Given the description of an element on the screen output the (x, y) to click on. 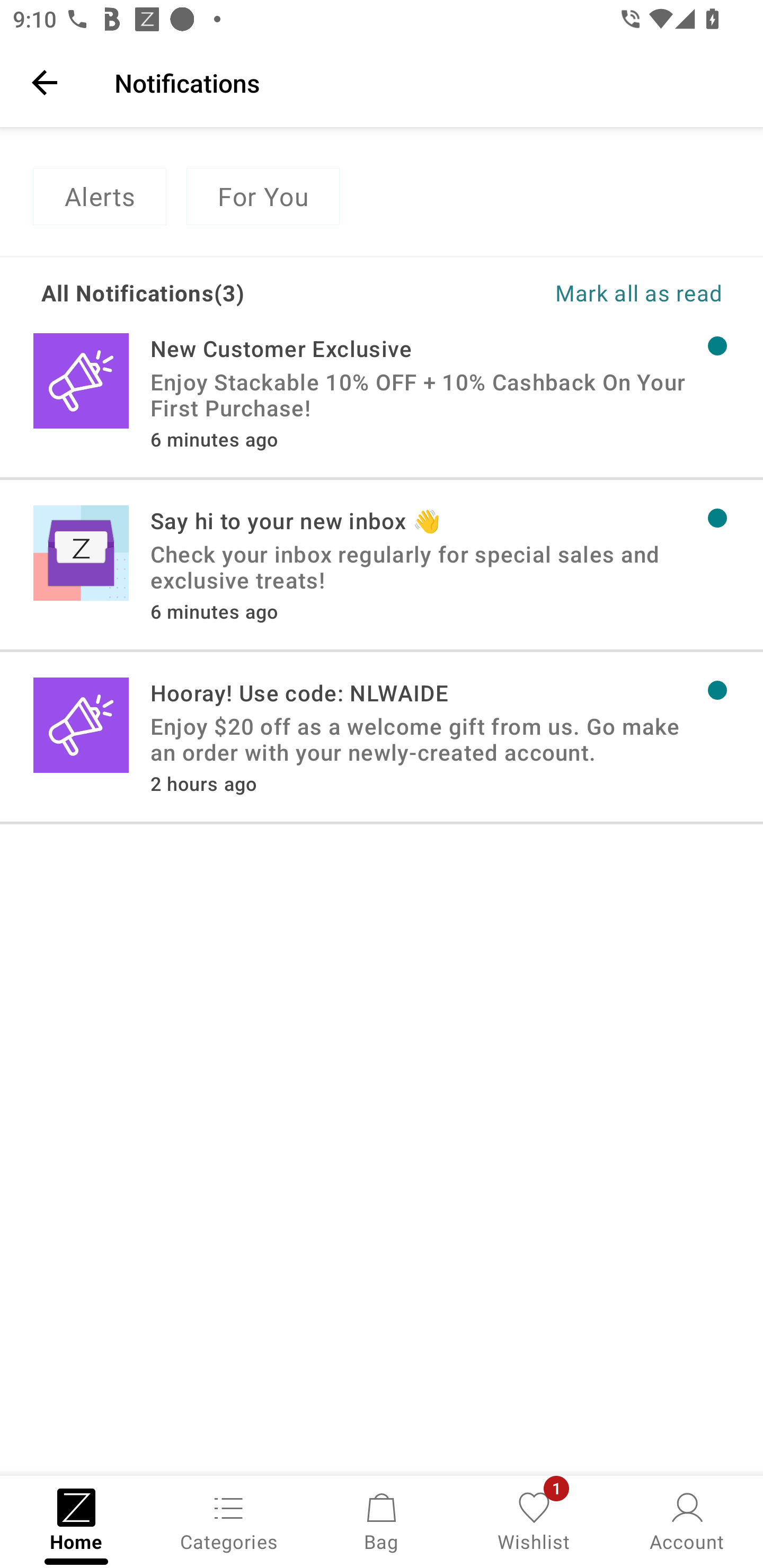
Navigate up (44, 82)
Notifications (426, 82)
Alerts (99, 196)
For You (262, 196)
Mark all as read (551, 292)
Categories (228, 1519)
Bag (381, 1519)
Wishlist, 1 new notification Wishlist (533, 1519)
Account (686, 1519)
